Given the description of an element on the screen output the (x, y) to click on. 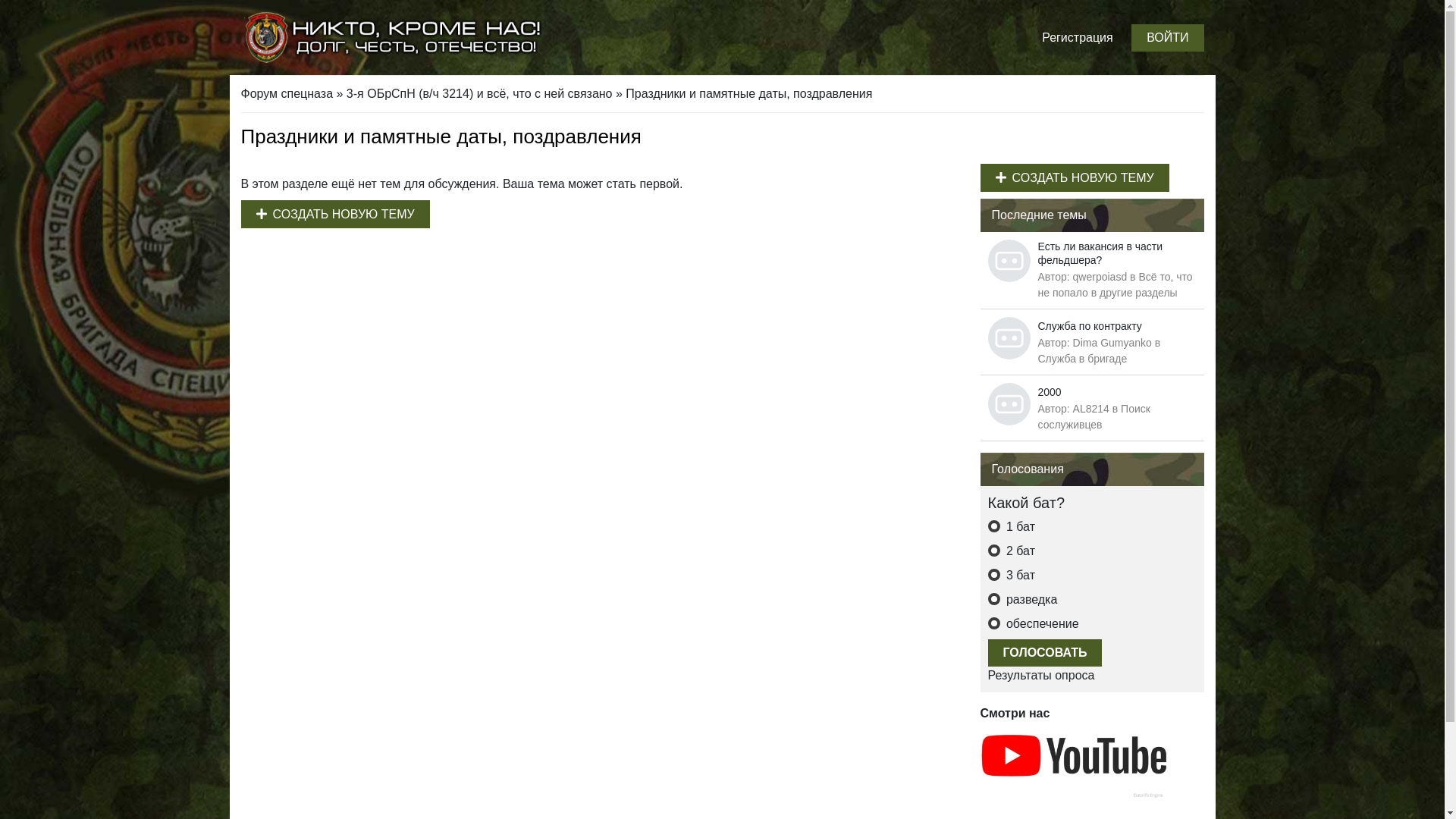
2000 Element type: text (1048, 391)
Dima Gumyanko Element type: text (1112, 342)
qwerpoiasd Element type: text (1100, 276)
AL8214 Element type: text (1091, 408)
